Given the description of an element on the screen output the (x, y) to click on. 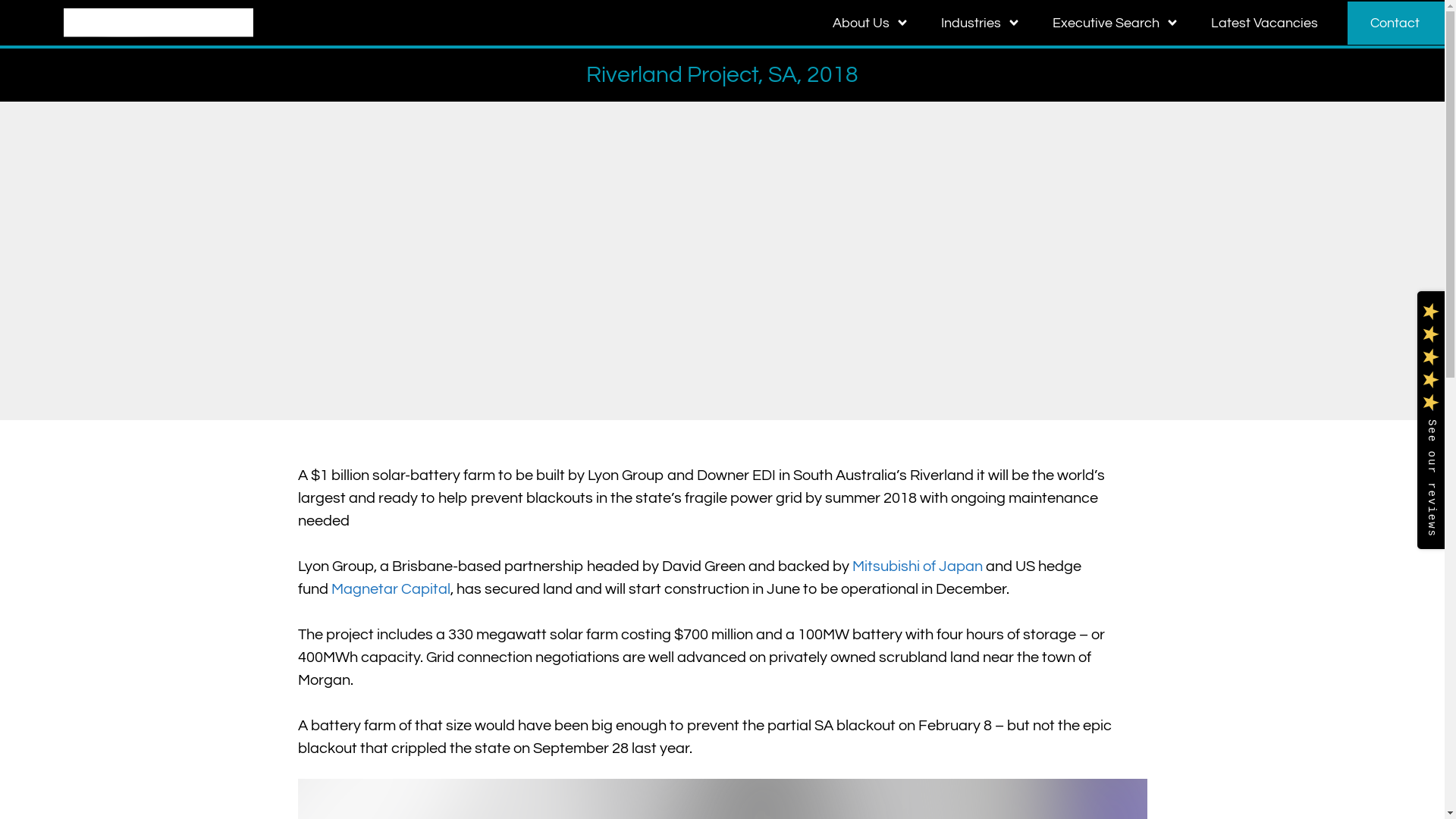
About Us Element type: text (861, 22)
Executive Search Element type: text (1106, 22)
Contact Element type: text (1395, 22)
Industries Element type: text (972, 22)
Latest Vacancies Element type: text (1265, 22)
Magnetar Capital Element type: text (389, 588)
Mitsubishi of Japan Element type: text (917, 566)
